Given the description of an element on the screen output the (x, y) to click on. 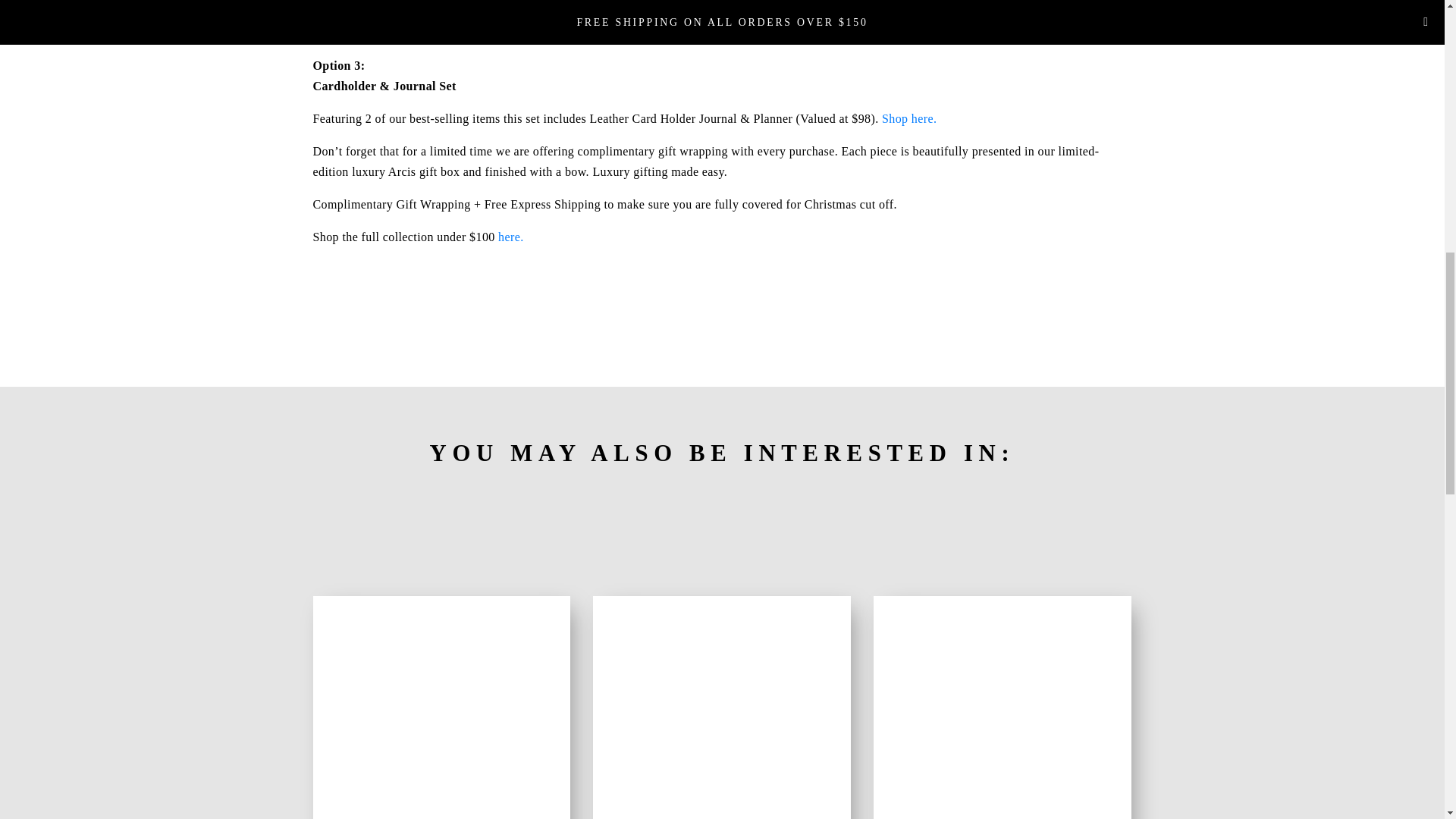
Shop here. (909, 118)
Shop here. (536, 32)
here. (510, 236)
